Given the description of an element on the screen output the (x, y) to click on. 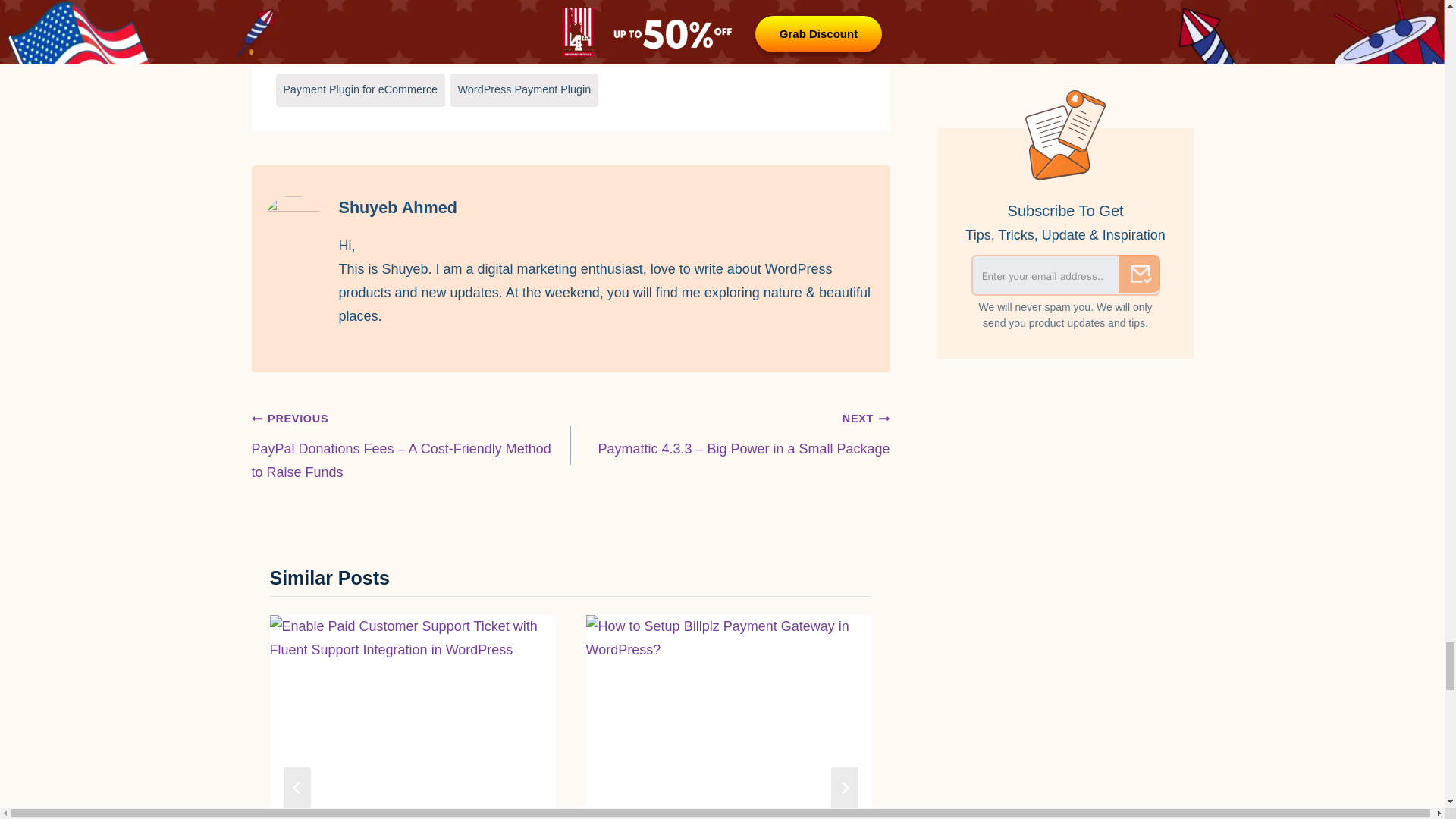
Posts by Shuyeb Ahmed (397, 207)
WordPress Payment Plugin (523, 90)
Payment Plugin for eCommerce (360, 90)
